Given the description of an element on the screen output the (x, y) to click on. 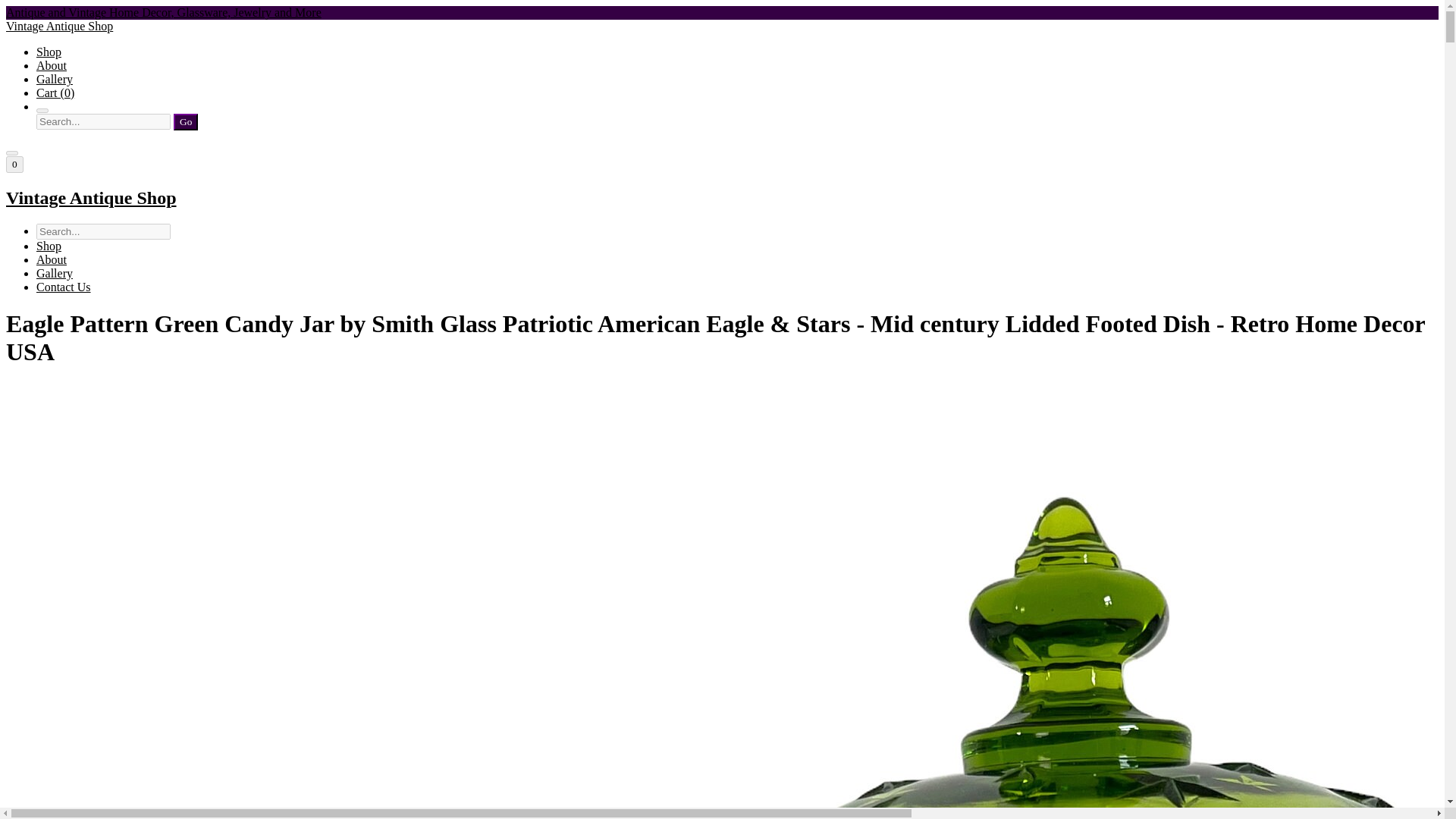
Vintage Antique Shop (721, 198)
Gallery (54, 78)
Contact Us (63, 286)
Shop (48, 51)
Gallery (54, 273)
Go (185, 121)
About (51, 259)
0 (14, 164)
About (51, 65)
Antique and Vintage Home Decor, Glassware, Jewelry and More (163, 11)
Shop (48, 245)
Go (185, 121)
